Given the description of an element on the screen output the (x, y) to click on. 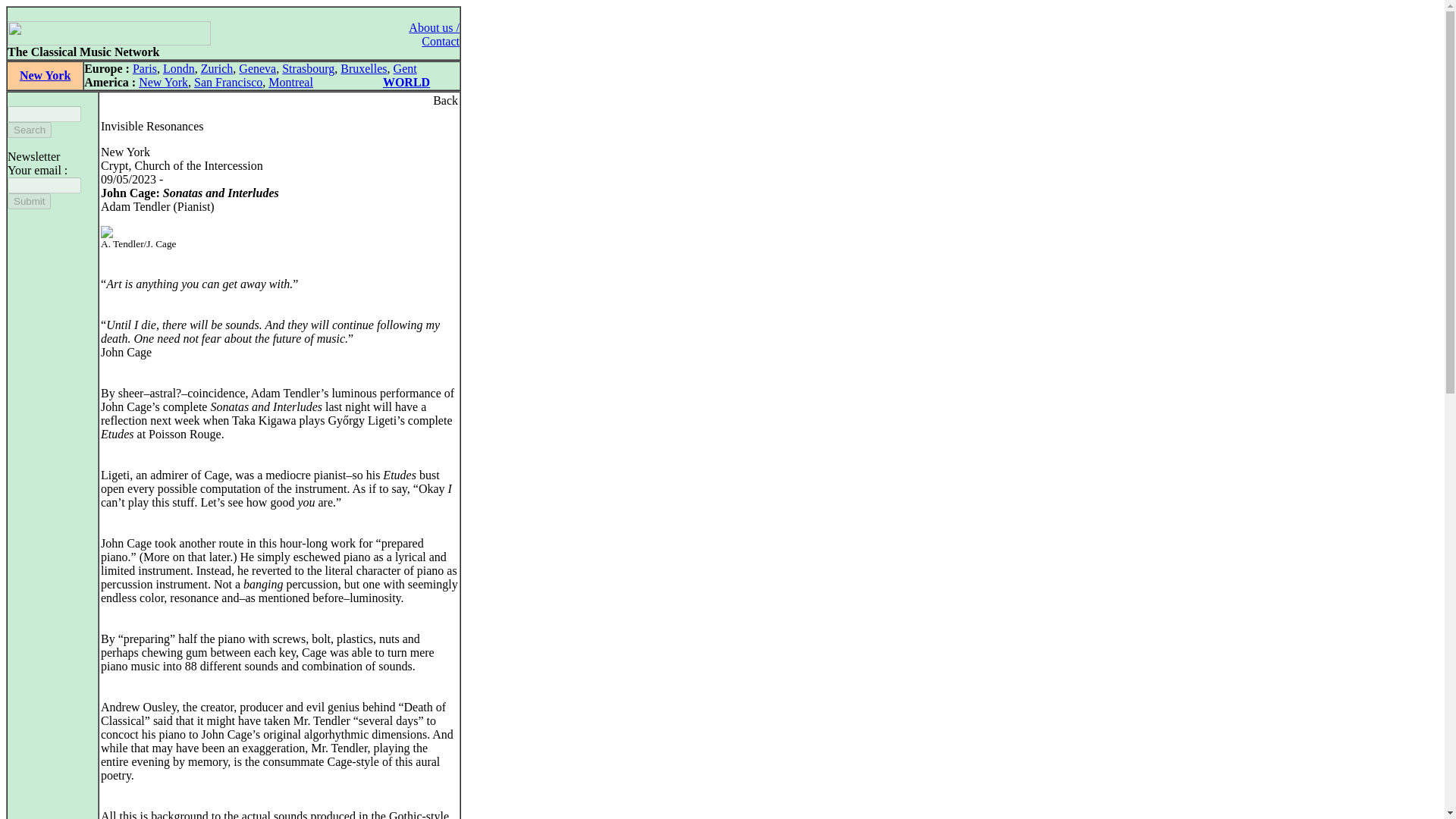
Strasbourg (308, 68)
Bruxelles (363, 68)
Search (28, 130)
Submit (28, 201)
Paris (144, 68)
Geneva (257, 68)
Zurich (216, 68)
Londn (179, 68)
Gent (404, 68)
New York (44, 74)
